Given the description of an element on the screen output the (x, y) to click on. 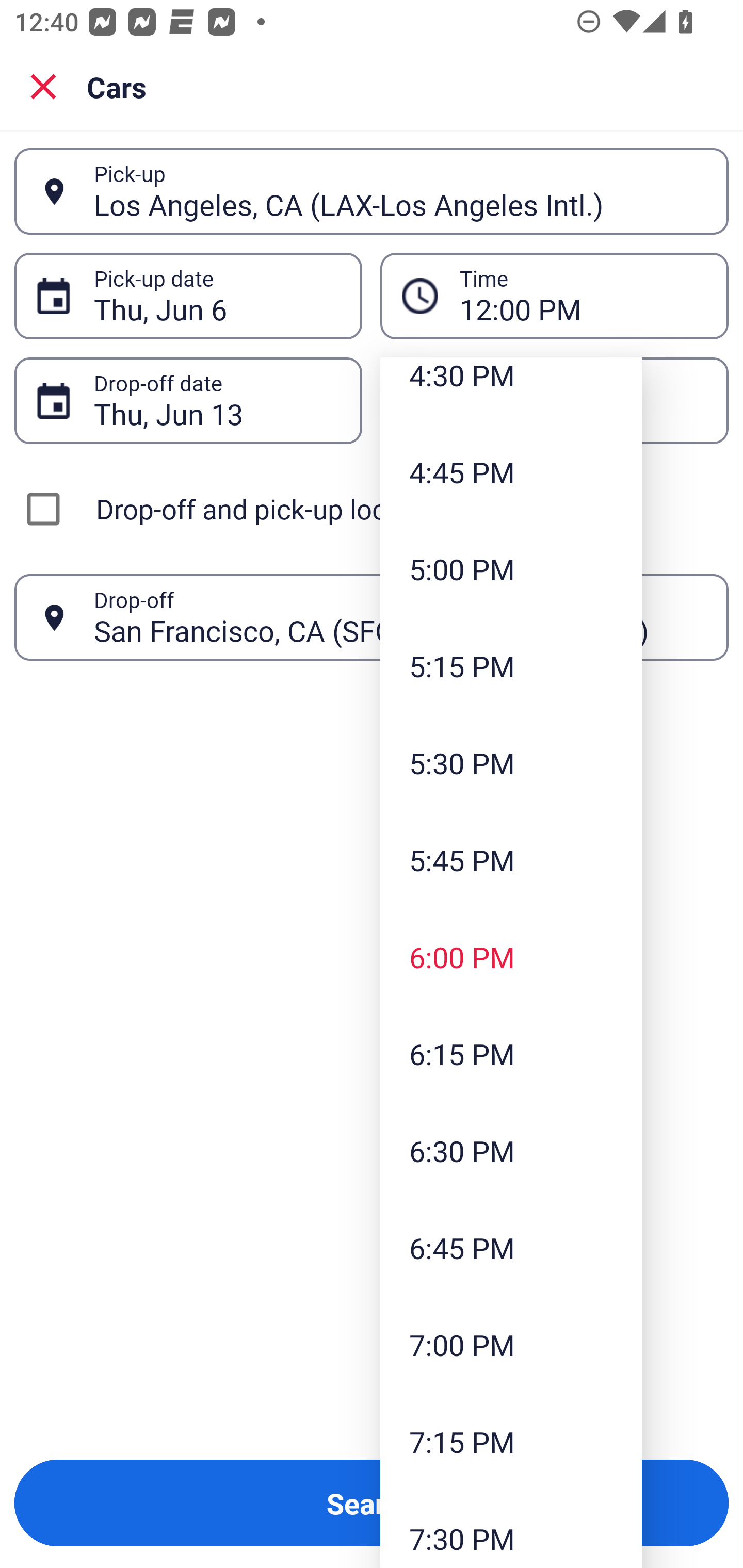
4:30 PM (510, 390)
4:45 PM (510, 471)
5:00 PM (510, 568)
5:15 PM (510, 666)
5:30 PM (510, 762)
5:45 PM (510, 858)
6:00 PM (510, 956)
6:15 PM (510, 1053)
6:30 PM (510, 1150)
6:45 PM (510, 1247)
7:00 PM (510, 1344)
7:15 PM (510, 1440)
7:30 PM (510, 1528)
